Given the description of an element on the screen output the (x, y) to click on. 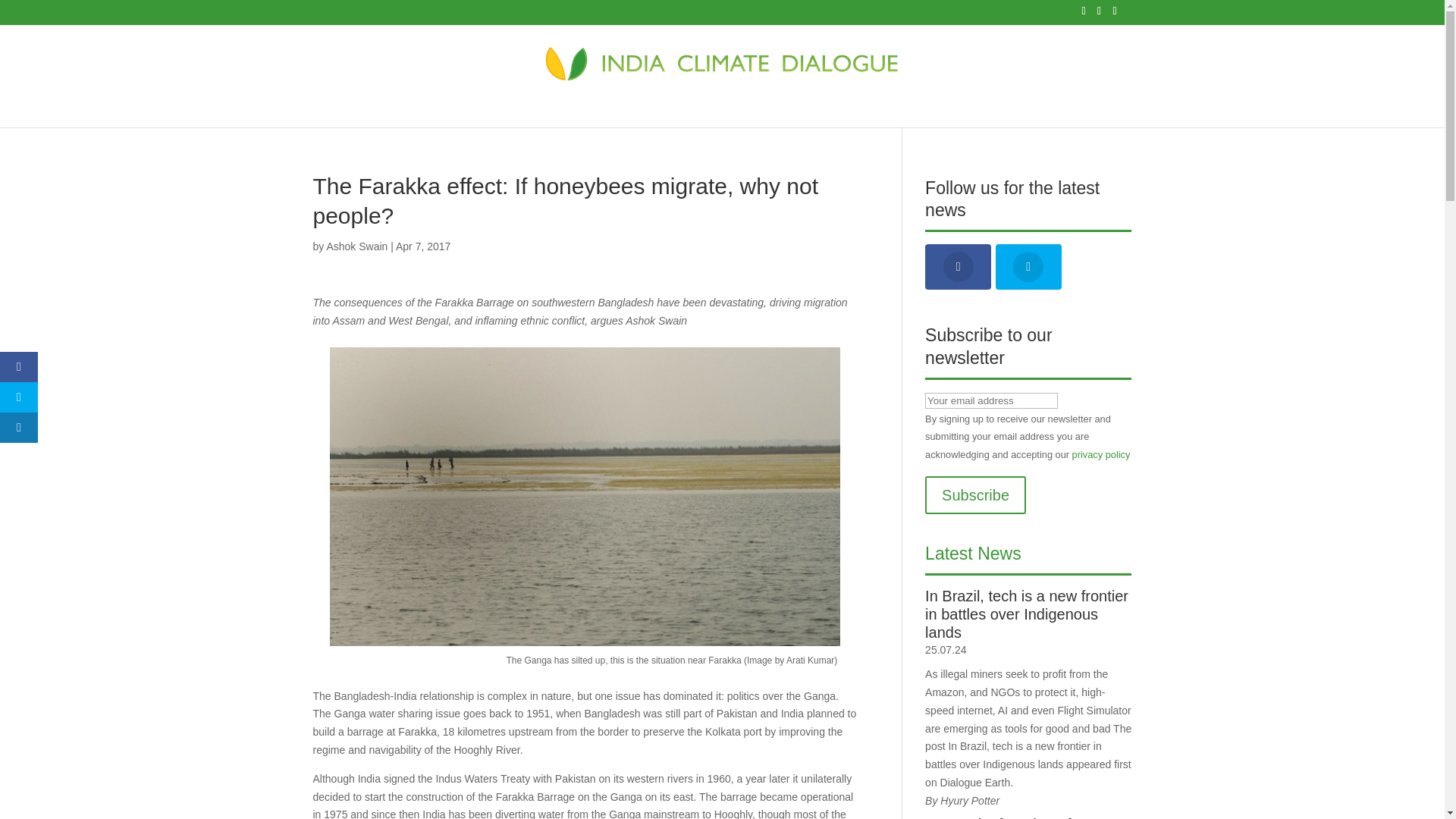
Latest News (973, 553)
Posts by Ashok Swain (356, 245)
No respite from heat for workers in India (1027, 817)
Subscribe (975, 494)
Subscribe (975, 494)
Ashok Swain (356, 245)
privacy policy (1101, 454)
